Given the description of an element on the screen output the (x, y) to click on. 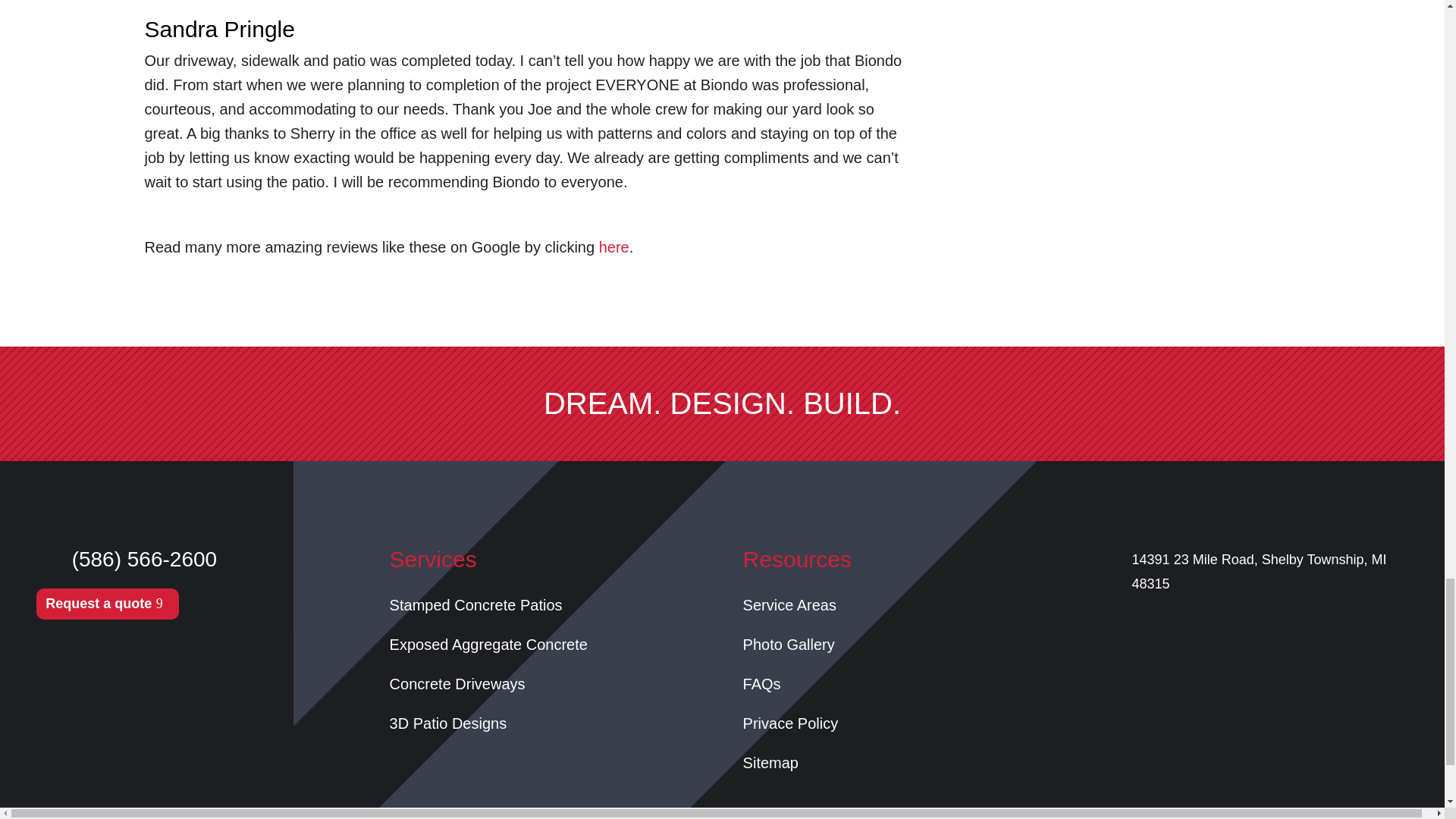
Photo Gallery (788, 644)
3D Patio Designs (448, 723)
Stamped Concrete Patios (476, 605)
Concrete Driveways (457, 683)
Request a quote (107, 603)
Service Areas (788, 605)
Exposed Aggregate Concrete (489, 644)
here (613, 247)
